Given the description of an element on the screen output the (x, y) to click on. 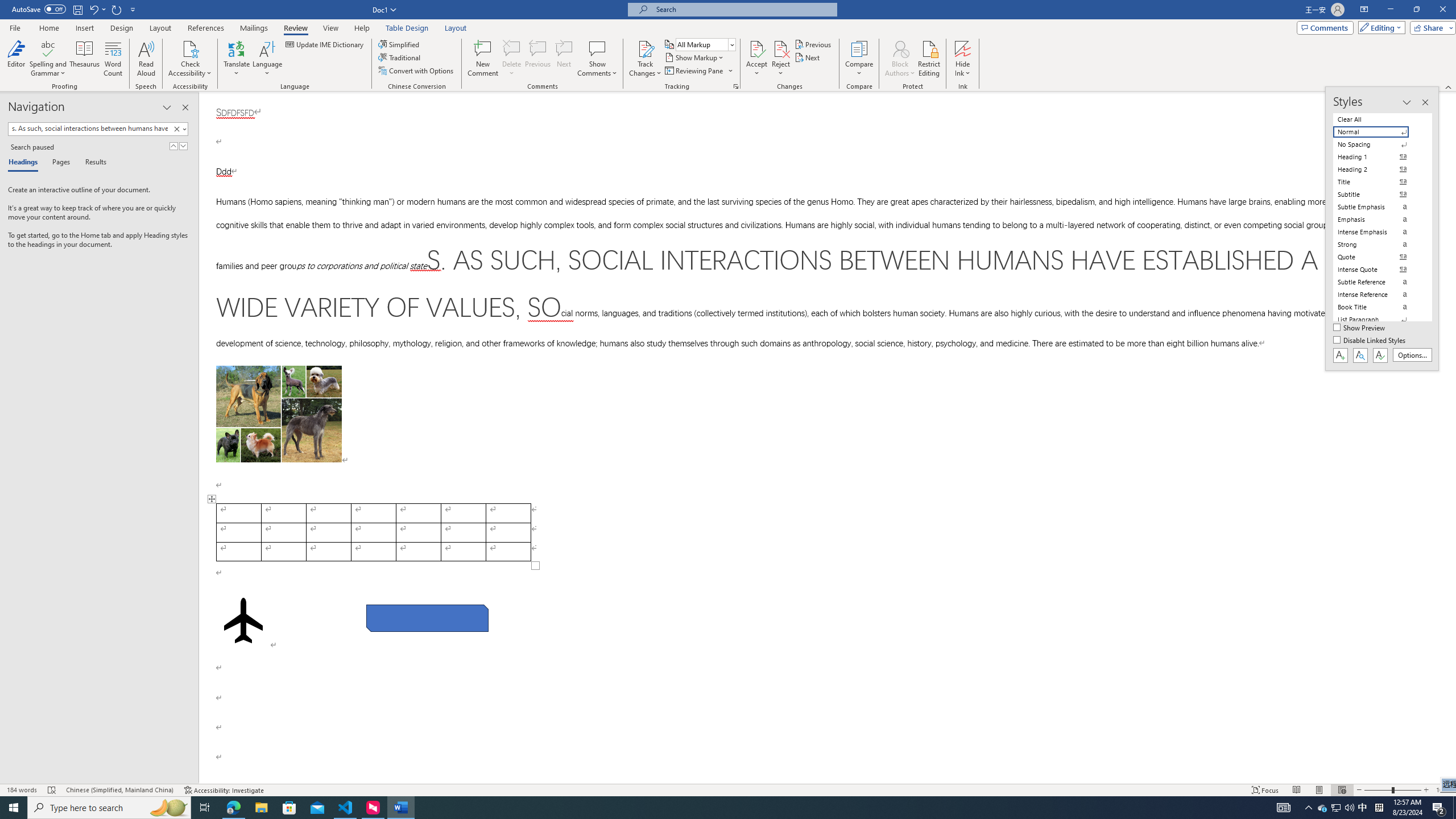
Display for Review (705, 44)
Previous (813, 44)
Quote (1377, 256)
Clear (176, 128)
Language (267, 58)
Undo Style (96, 9)
